Given the description of an element on the screen output the (x, y) to click on. 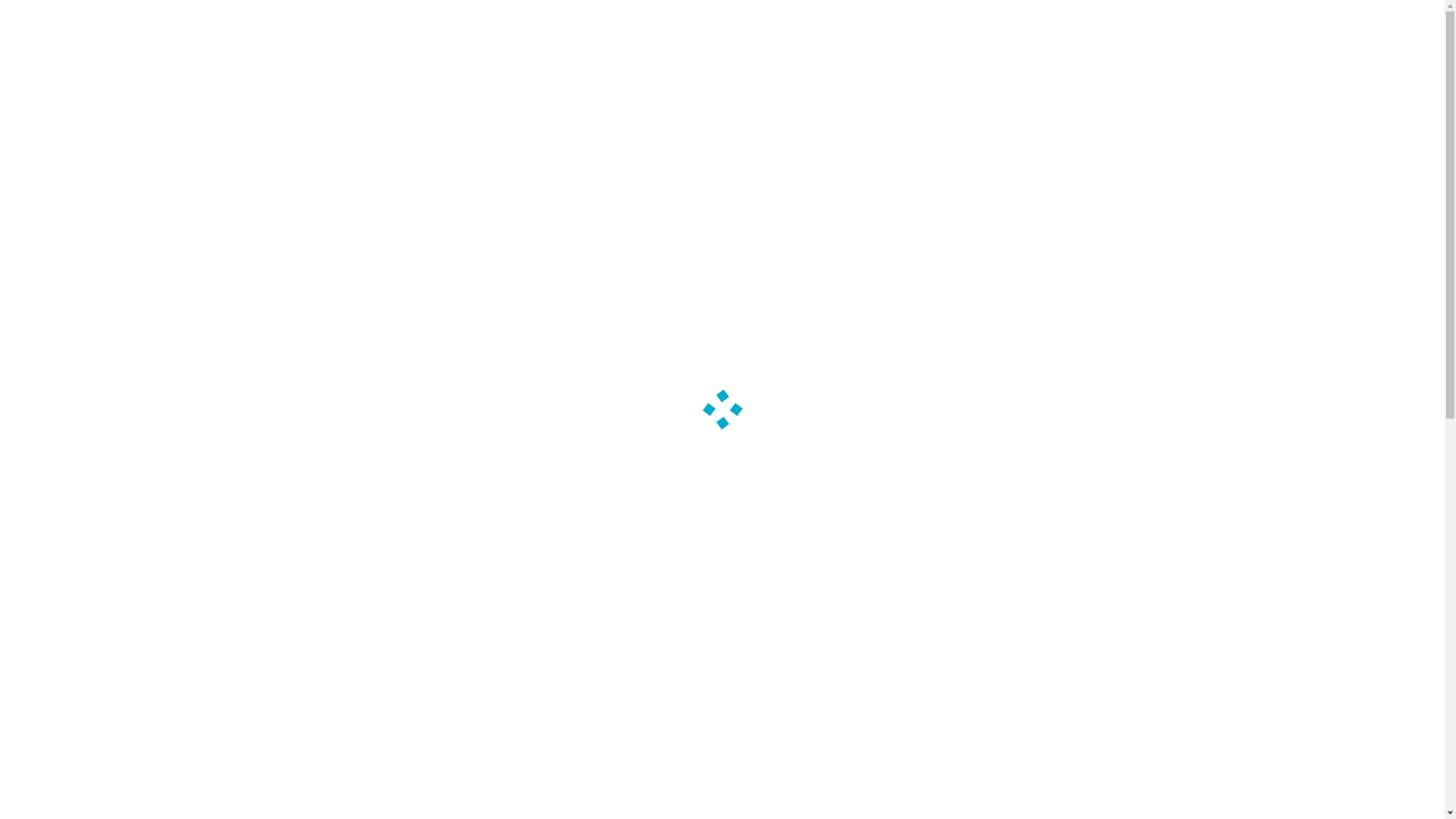
+37529 774 76 76 Element type: text (991, 73)
More Element type: text (722, 371)
+37529 672 82 71 Element type: text (989, 47)
Visit Belarus Element type: text (576, 141)
Main Element type: text (318, 141)
Bus rental & Transfers Element type: text (435, 141)
+375152 72 02 30 Element type: text (996, 20)
